Given the description of an element on the screen output the (x, y) to click on. 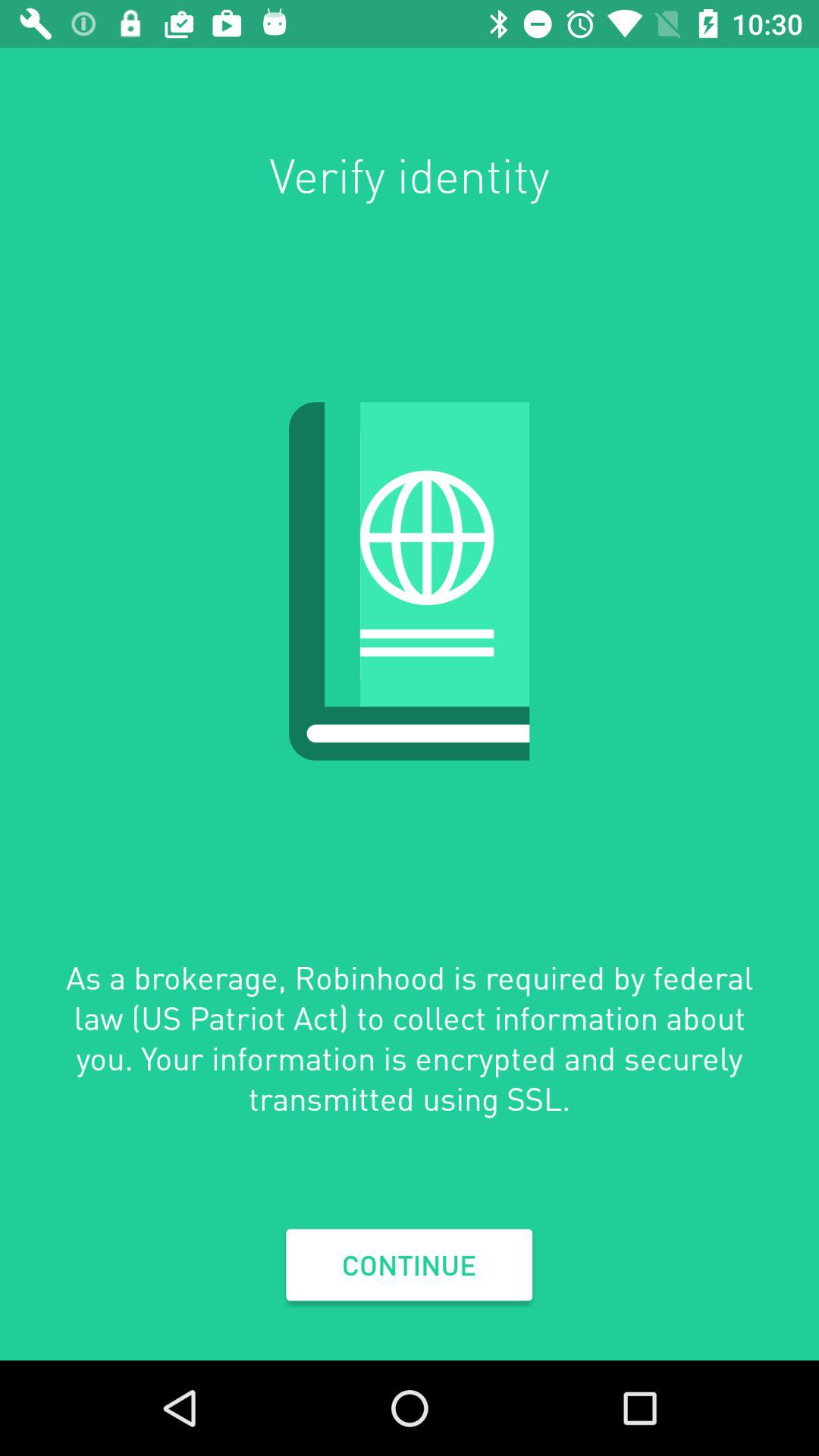
select continue (409, 1264)
